Given the description of an element on the screen output the (x, y) to click on. 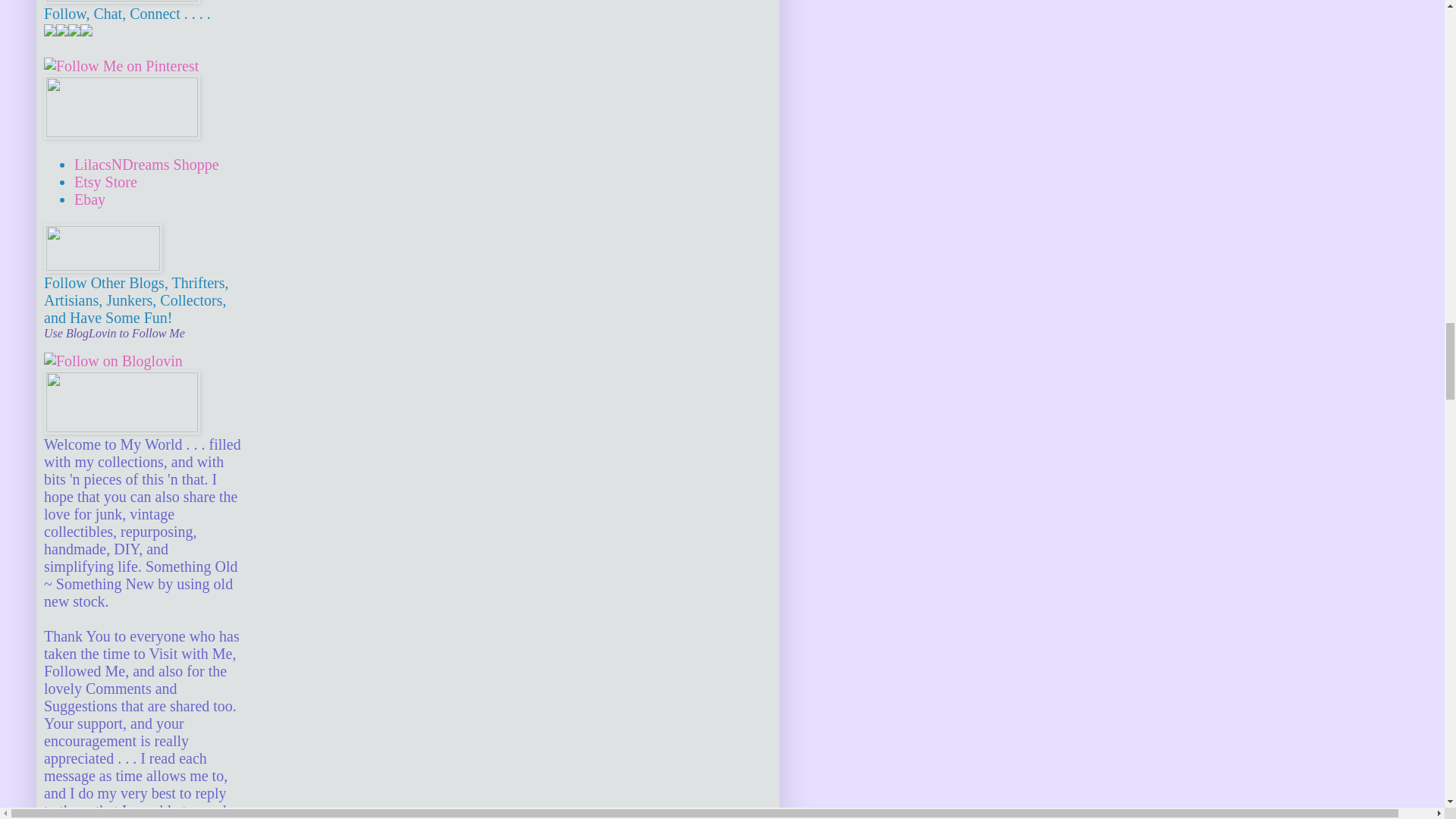
Follow LilacsNDreams on Bloglovin (113, 360)
